Given the description of an element on the screen output the (x, y) to click on. 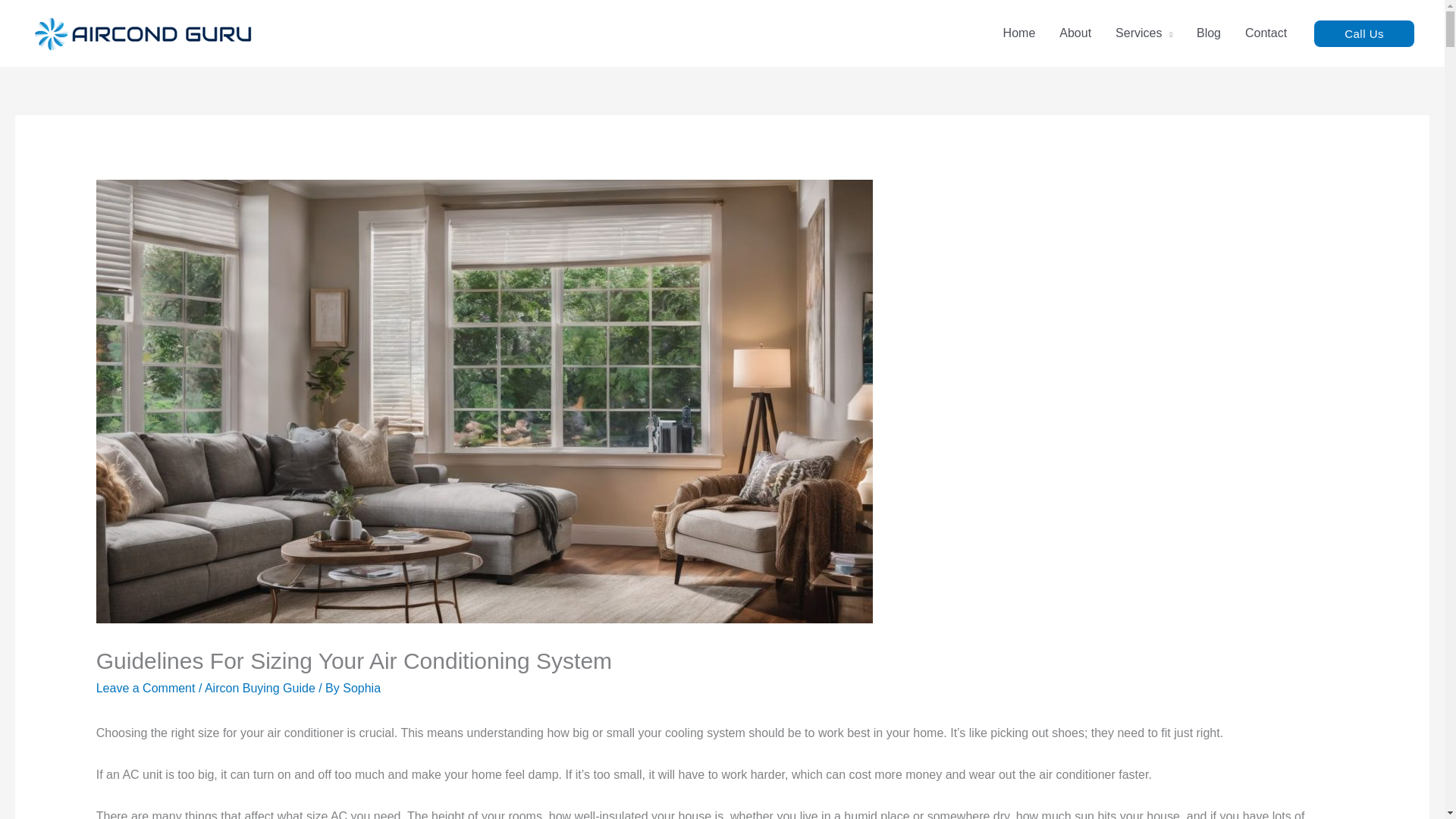
View all posts by Sophia (361, 687)
Call Us (1363, 32)
Contact (1265, 32)
Aircon Buying Guide (260, 687)
Services (1144, 32)
Leave a Comment (145, 687)
Home (1019, 32)
Sophia (361, 687)
About (1074, 32)
Blog (1209, 32)
